Given the description of an element on the screen output the (x, y) to click on. 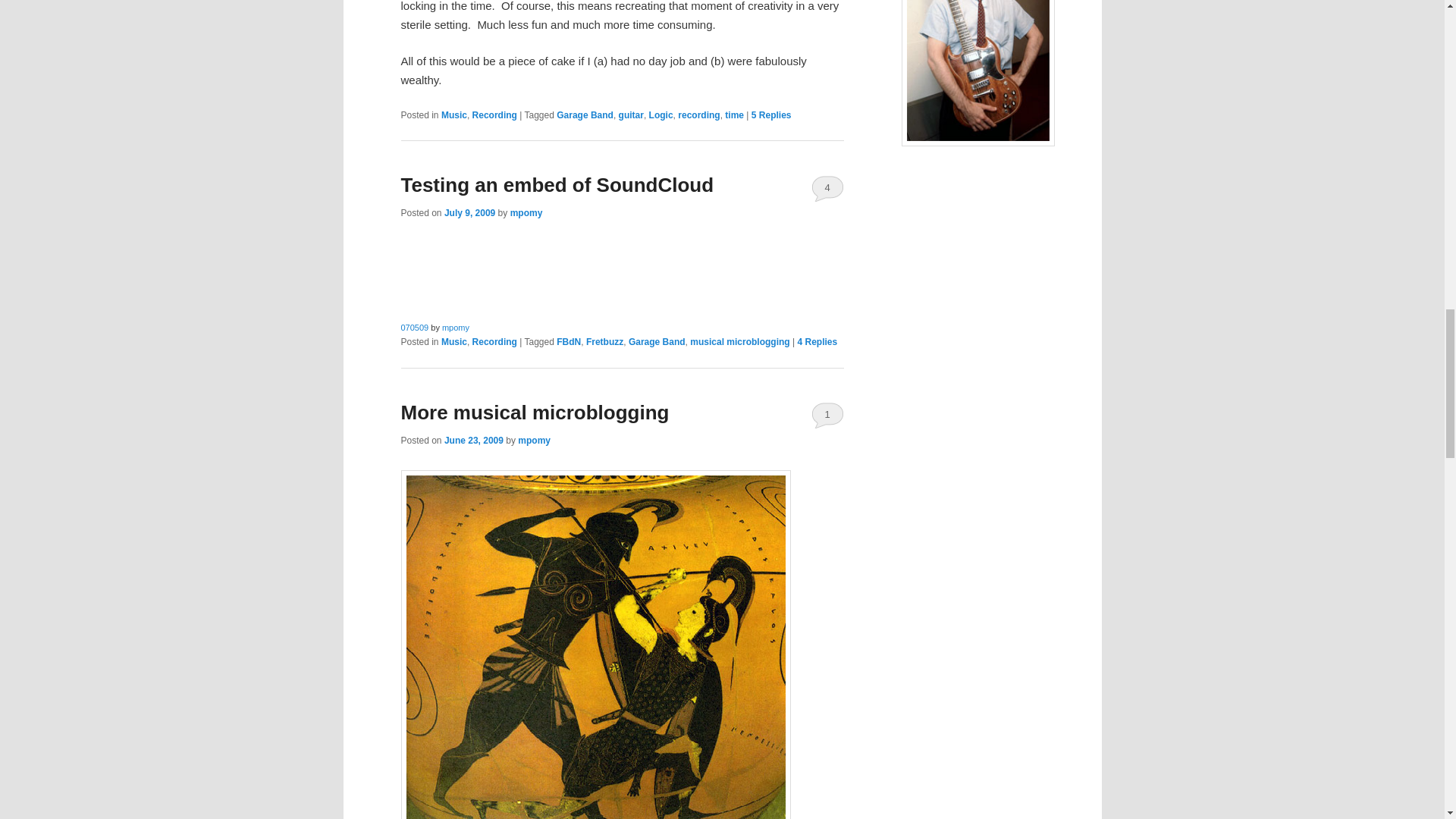
2:19 pm (469, 213)
Garage Band (584, 114)
View all posts by mpomy (527, 213)
Recording (493, 114)
Music (454, 114)
